Given the description of an element on the screen output the (x, y) to click on. 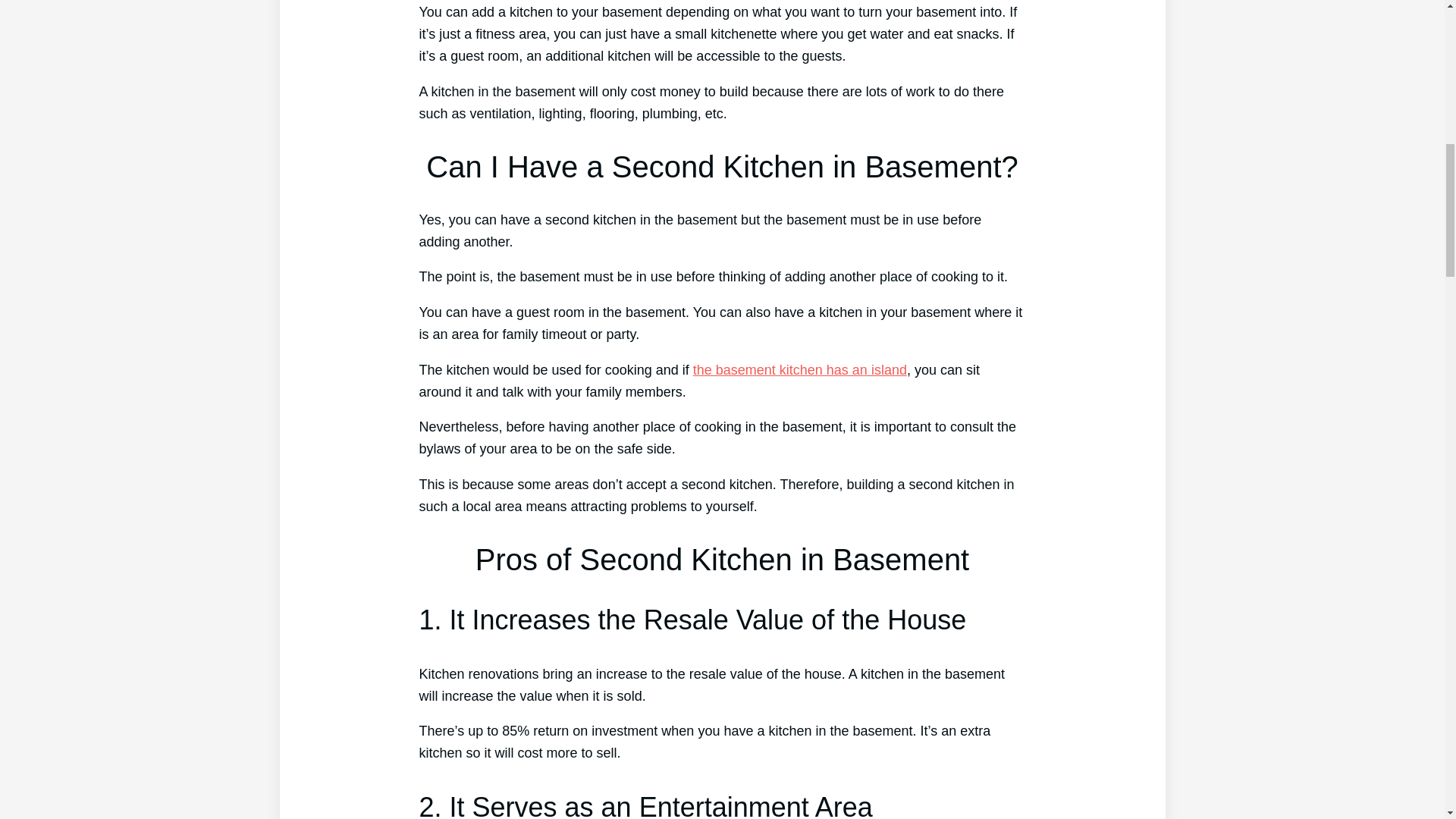
the basement kitchen has an island (800, 369)
